Given the description of an element on the screen output the (x, y) to click on. 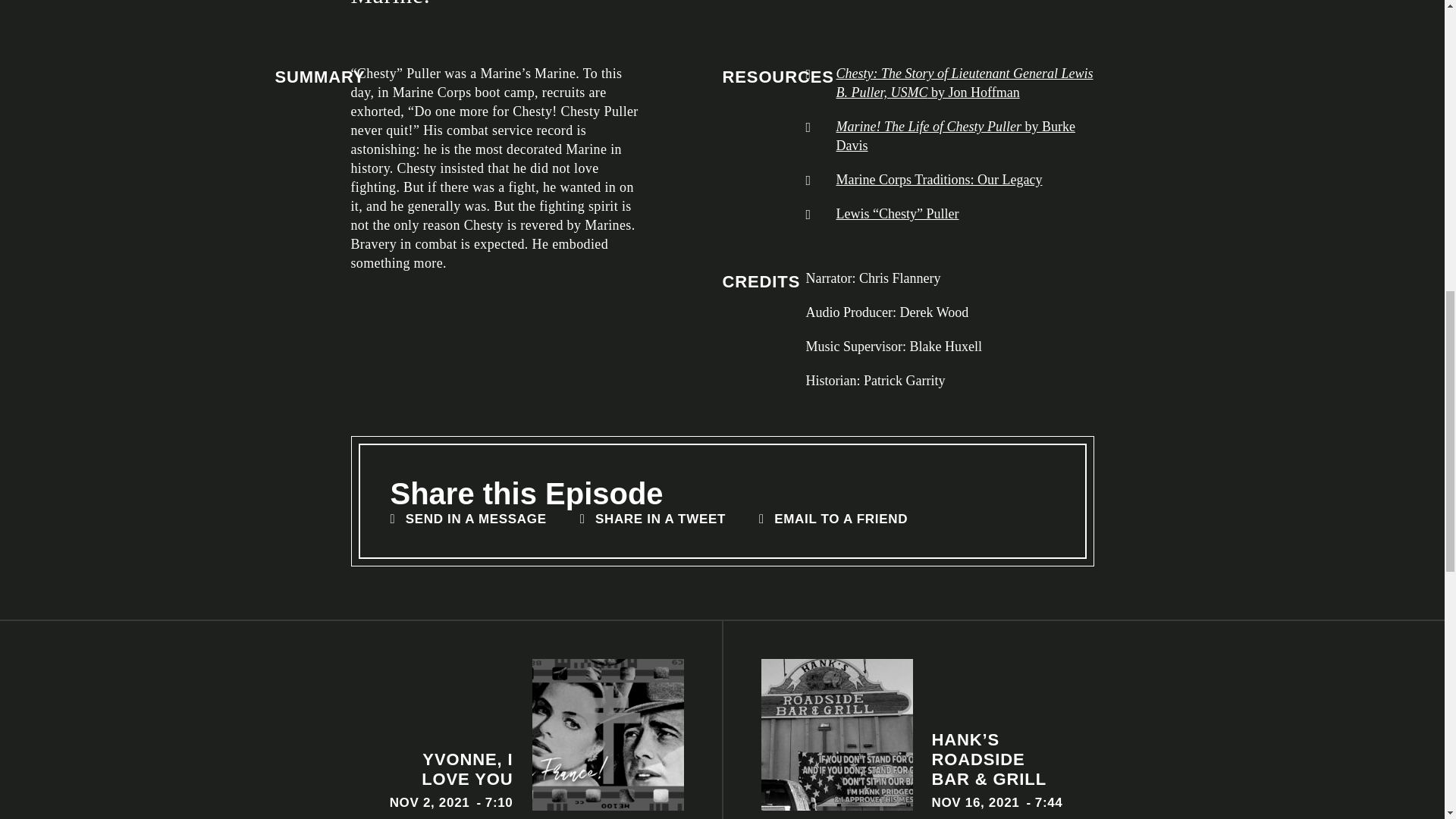
EMAIL TO A FRIEND (832, 518)
SEND IN A MESSAGE (361, 734)
SHARE IN A TWEET (469, 518)
Marine! The Life of Chesty Puller by Burke Davis (654, 518)
Marine Corps Traditions: Our Legacy (964, 136)
